Given the description of an element on the screen output the (x, y) to click on. 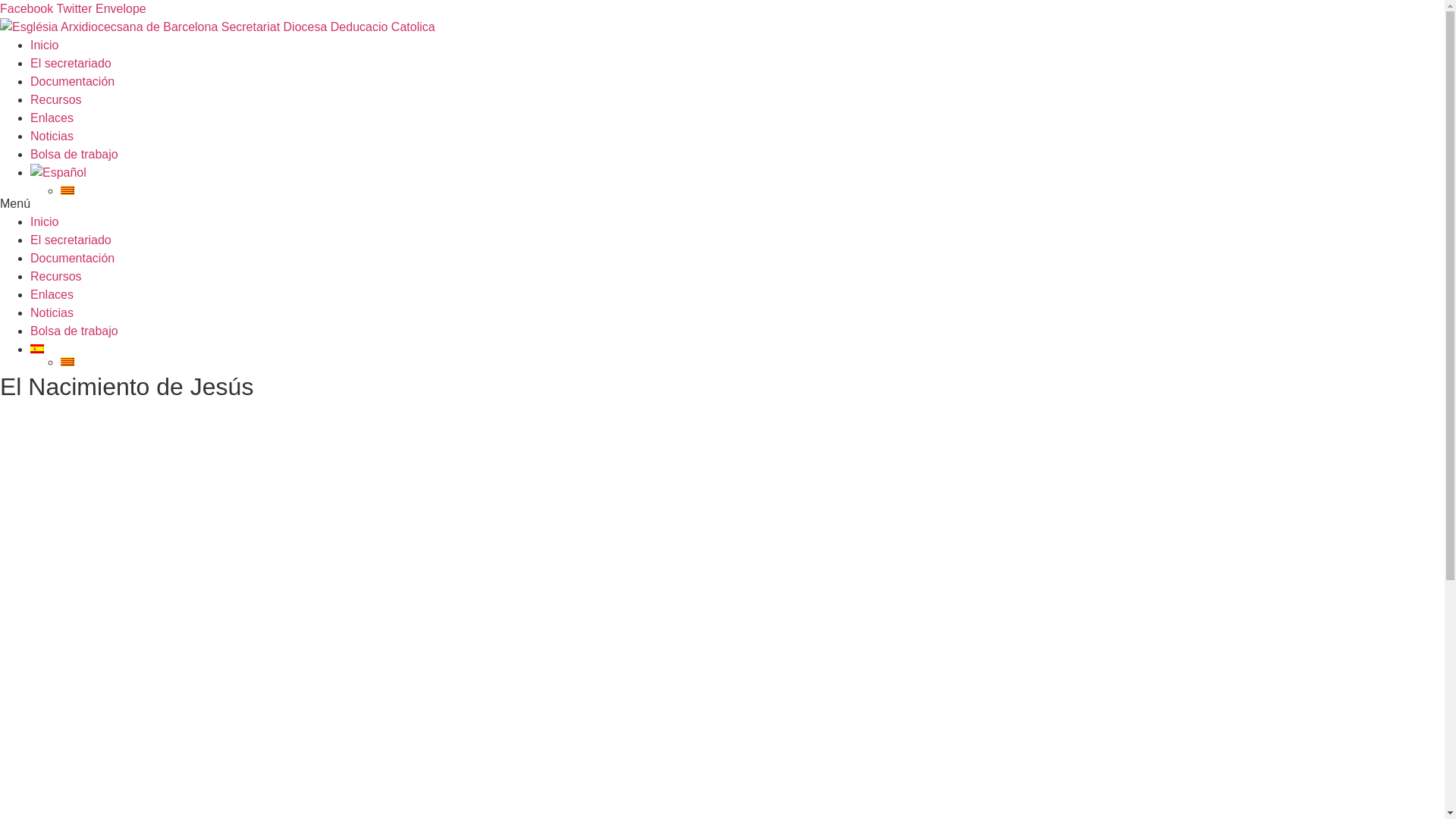
Recursos Element type: text (55, 275)
Noticias Element type: text (51, 135)
Inicio Element type: text (44, 221)
Noticias Element type: text (51, 312)
Enlaces Element type: text (51, 294)
Bolsa de trabajo Element type: text (74, 330)
Facebook Element type: text (28, 8)
Bolsa de trabajo Element type: text (74, 153)
Twitter Element type: text (75, 8)
Inicio Element type: text (44, 44)
Recursos Element type: text (55, 99)
El secretariado Element type: text (70, 239)
El secretariado Element type: text (70, 62)
Enlaces Element type: text (51, 117)
Envelope Element type: text (120, 8)
